Given the description of an element on the screen output the (x, y) to click on. 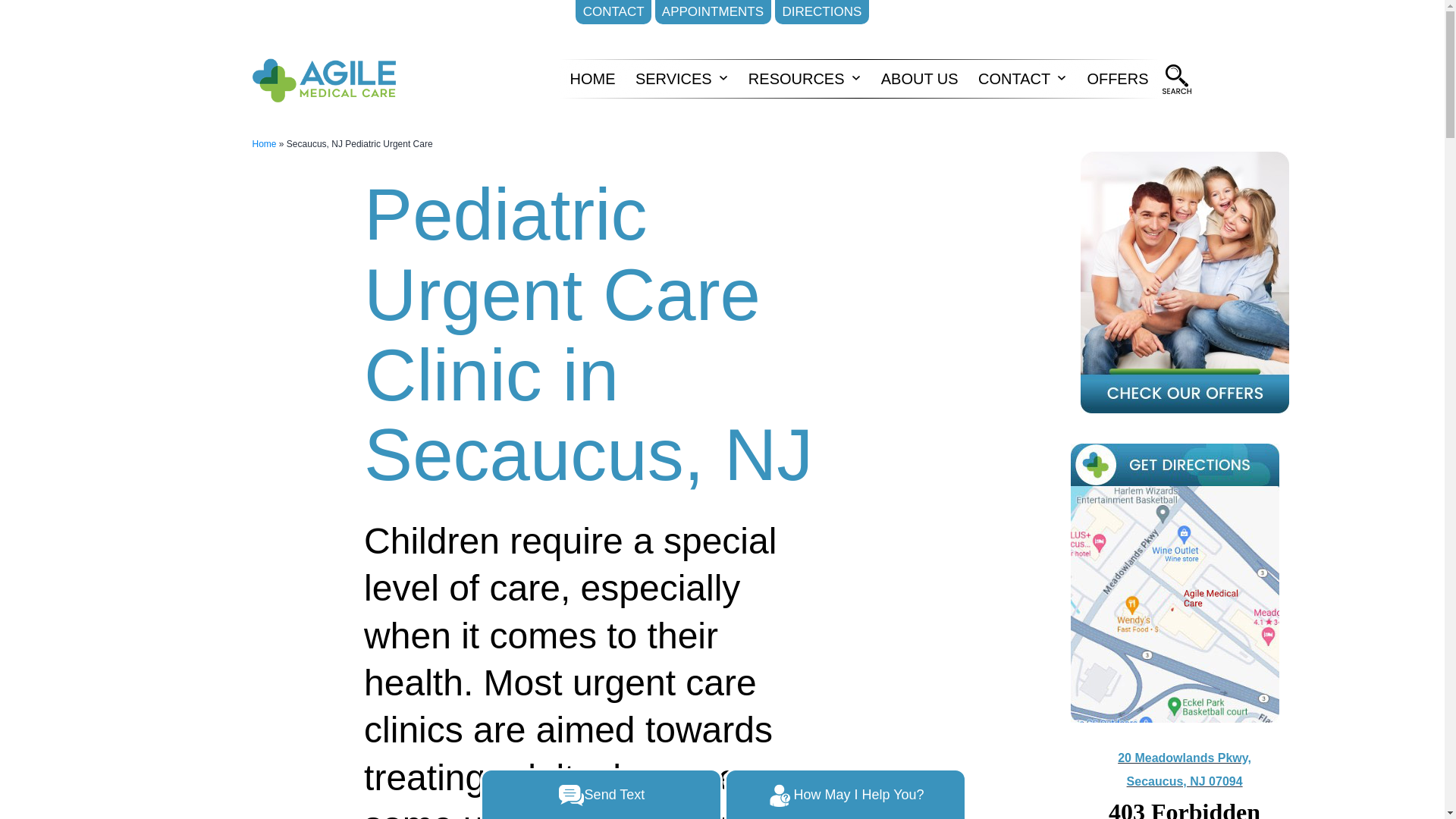
Agile Medical Care Located in Secaucus, NJ (1176, 79)
CONTACT (612, 12)
SERVICES (674, 78)
DIRECTIONS (821, 12)
CONTACT (1014, 78)
ABOUT US (919, 78)
RESOURCES (796, 78)
HOME (591, 78)
APPOINTMENTS (713, 12)
